Given the description of an element on the screen output the (x, y) to click on. 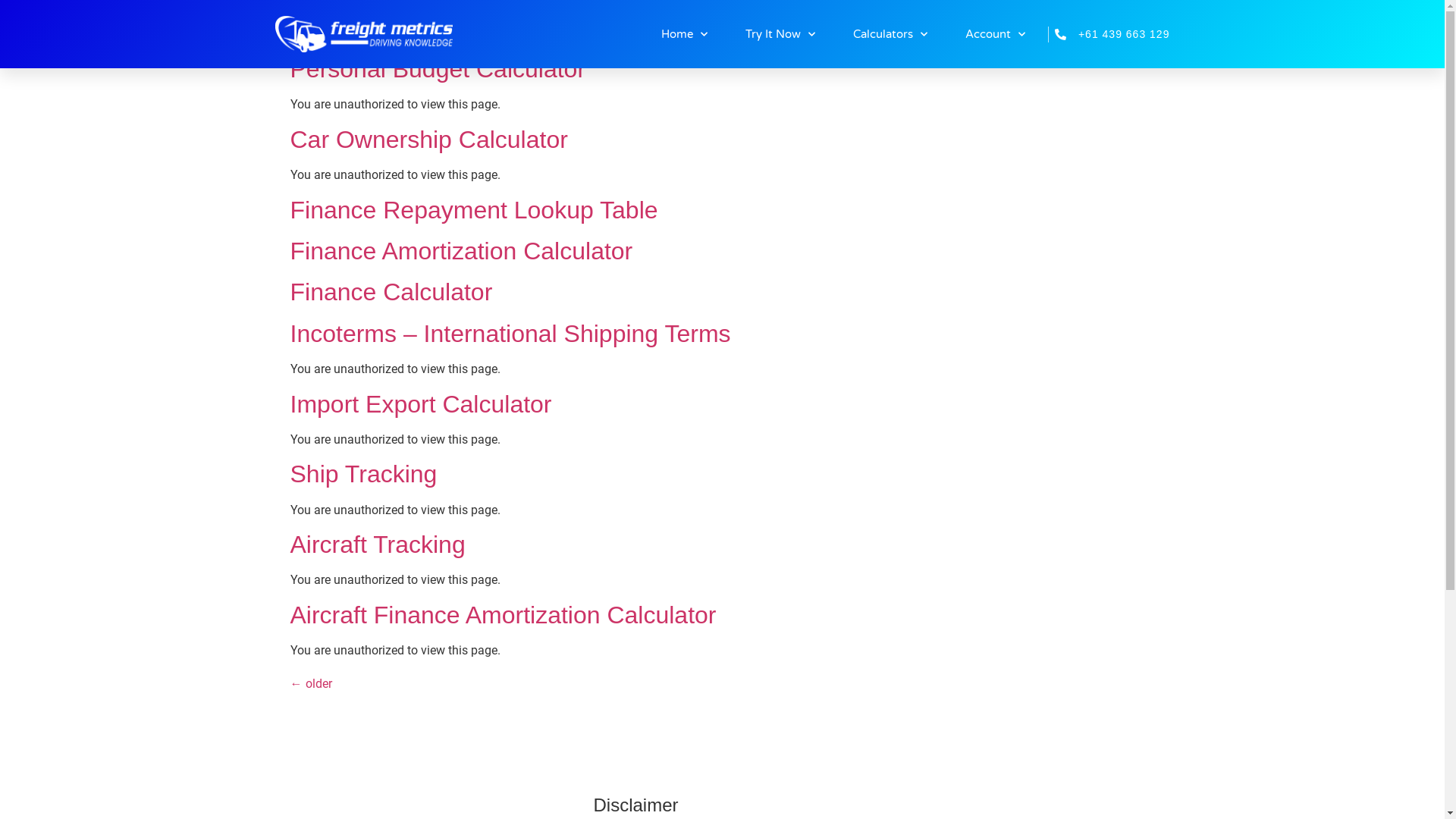
Aircraft Finance Amortization Calculator Element type: text (502, 614)
Personal Budget Calculator Element type: text (437, 68)
Ship Tracking Element type: text (362, 473)
Calculators Element type: text (890, 34)
Import Export Calculator Element type: text (420, 403)
+61 439 663 129 Element type: text (1108, 33)
Home Element type: text (684, 34)
Finance Calculator Element type: text (390, 291)
Account Element type: text (995, 34)
Finance Repayment Lookup Table Element type: text (473, 209)
Car Ownership Calculator Element type: text (428, 139)
Finance Amortization Calculator Element type: text (460, 250)
Try It Now Element type: text (780, 34)
Aircraft Tracking Element type: text (376, 544)
